Given the description of an element on the screen output the (x, y) to click on. 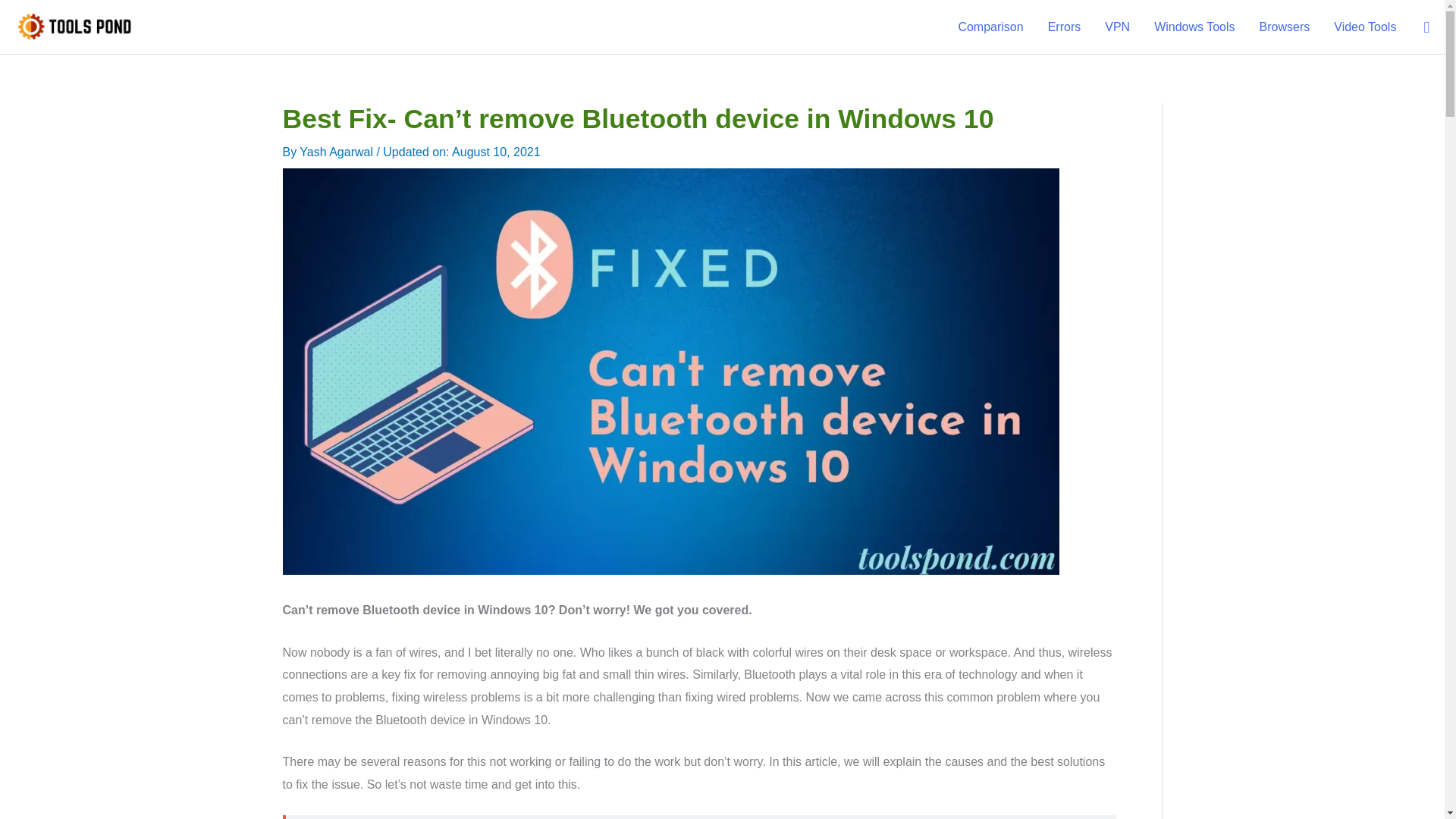
View all posts by Yash Agarwal (337, 151)
Windows Tools (1193, 27)
VPN (1117, 27)
Errors (1064, 27)
Video Tools (1364, 27)
Browsers (1284, 27)
Yash Agarwal (337, 151)
Comparison (989, 27)
